Given the description of an element on the screen output the (x, y) to click on. 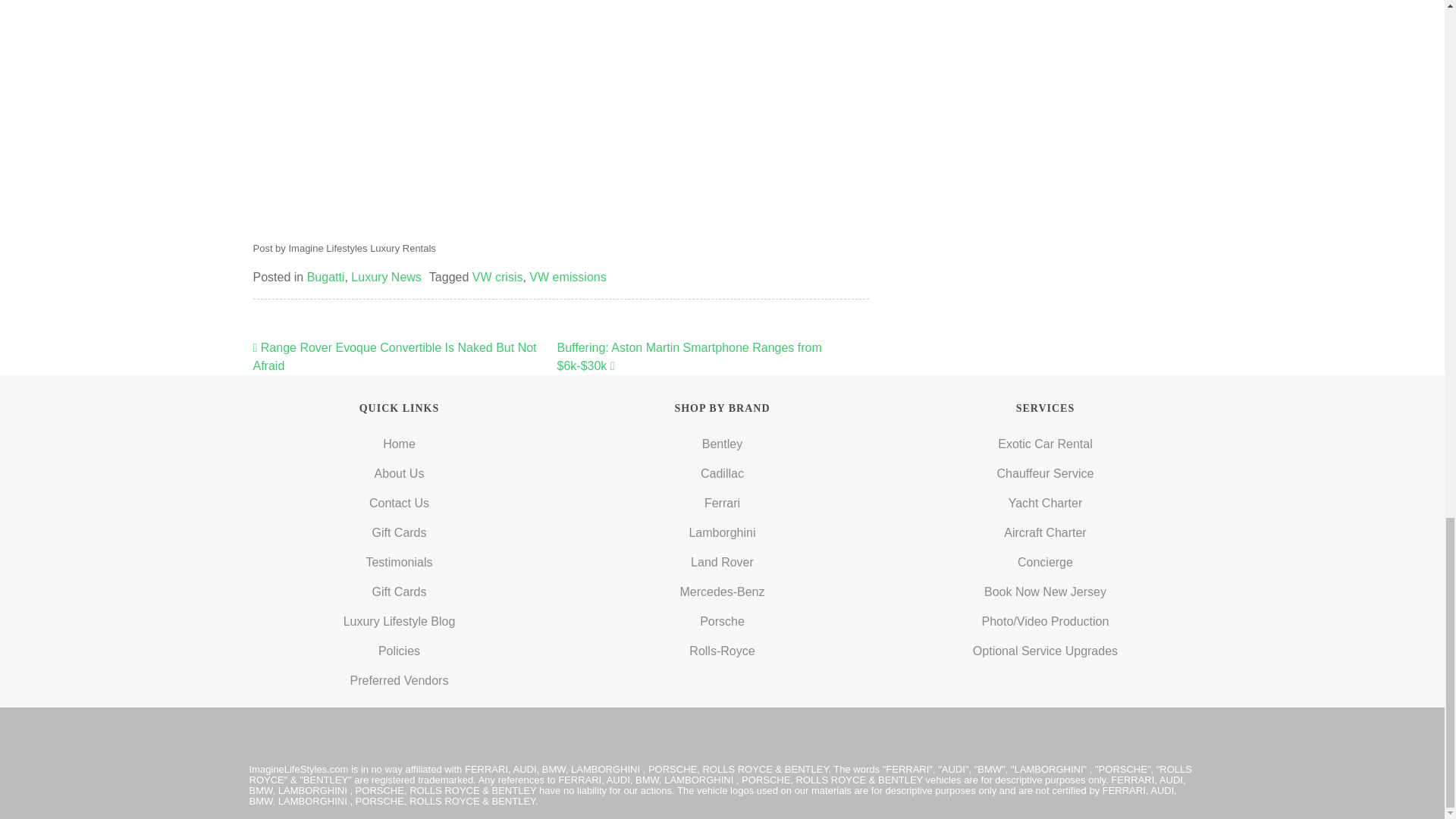
 Range Rover Evoque Convertible Is Naked But Not Afraid (395, 356)
Bugatti (326, 277)
VW emissions (567, 277)
VW crisis (496, 277)
Luxury News (385, 277)
